Given the description of an element on the screen output the (x, y) to click on. 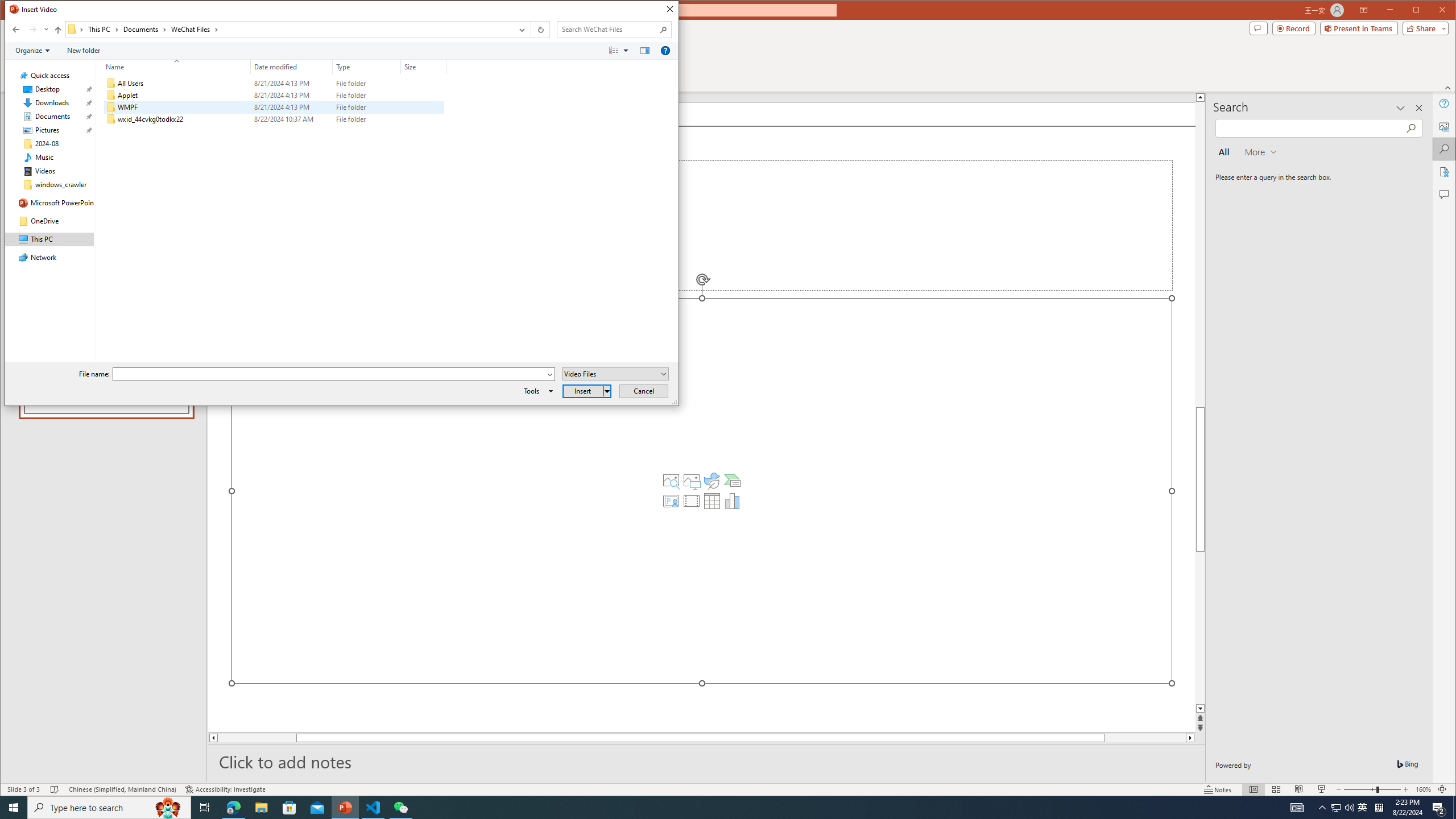
Insert Video (691, 501)
Insert Cameo (670, 501)
Applet (273, 95)
WMPF (273, 107)
Class: UIImage (111, 119)
Size (423, 119)
Organize (32, 50)
